Given the description of an element on the screen output the (x, y) to click on. 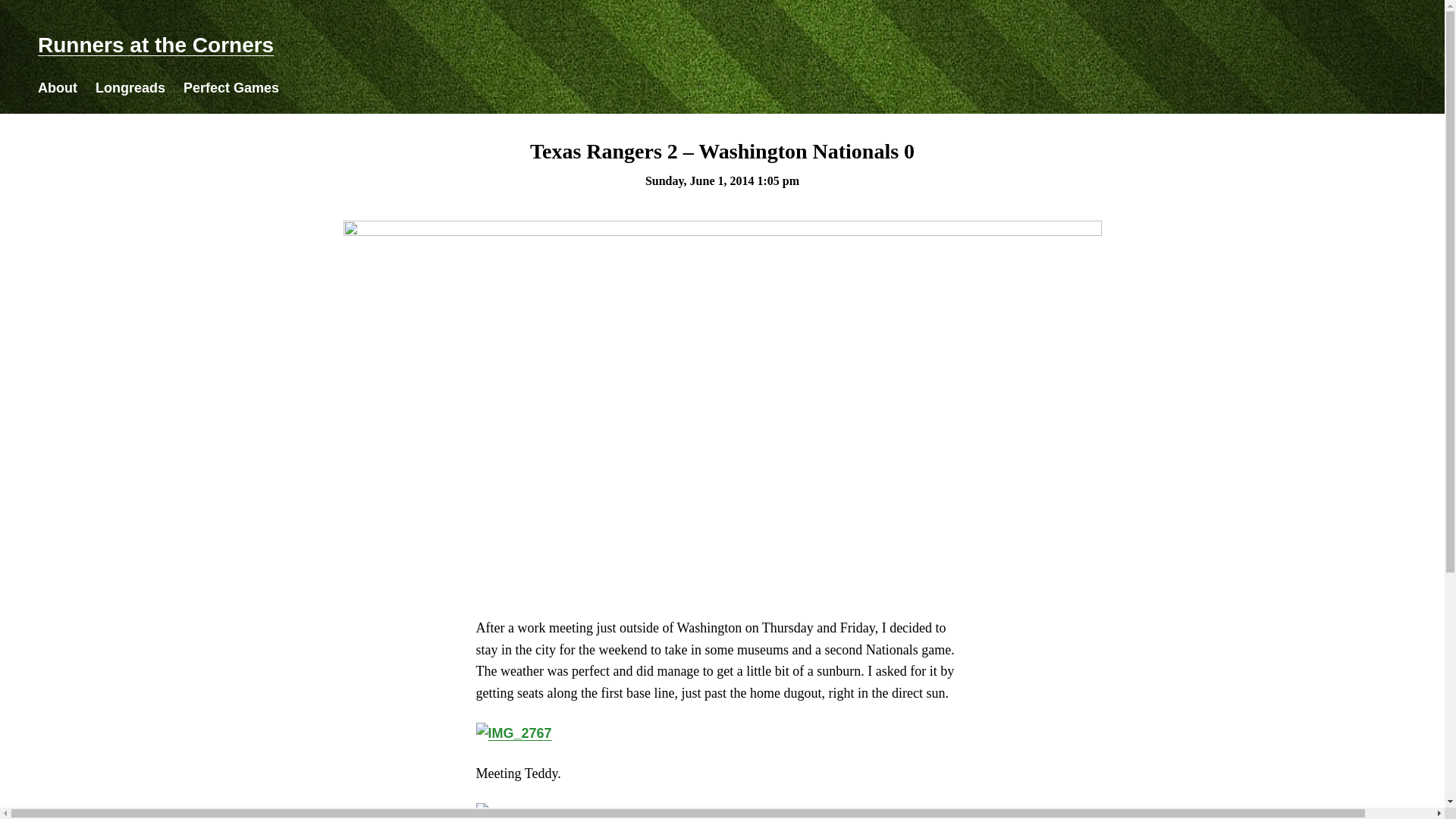
Runners at the Corners (155, 44)
Perfect Games (231, 87)
Longreads (130, 87)
About (57, 87)
